Given the description of an element on the screen output the (x, y) to click on. 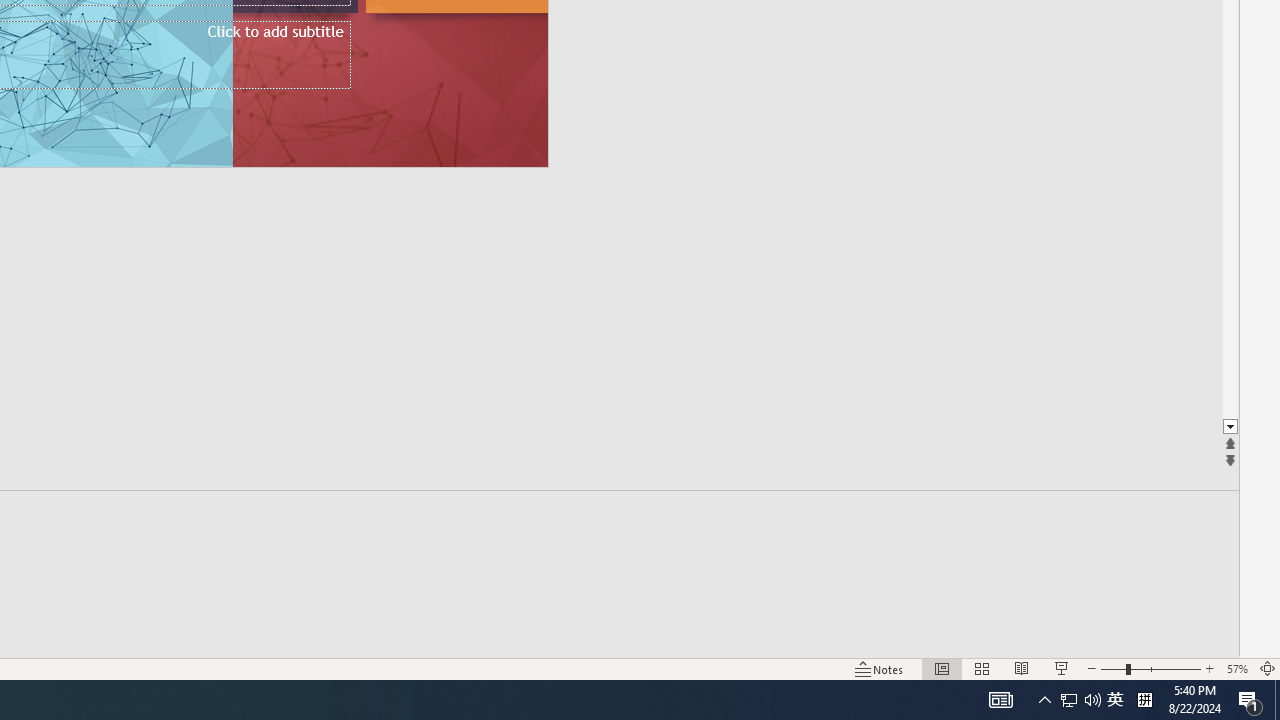
Zoom 57% (1236, 668)
